Given the description of an element on the screen output the (x, y) to click on. 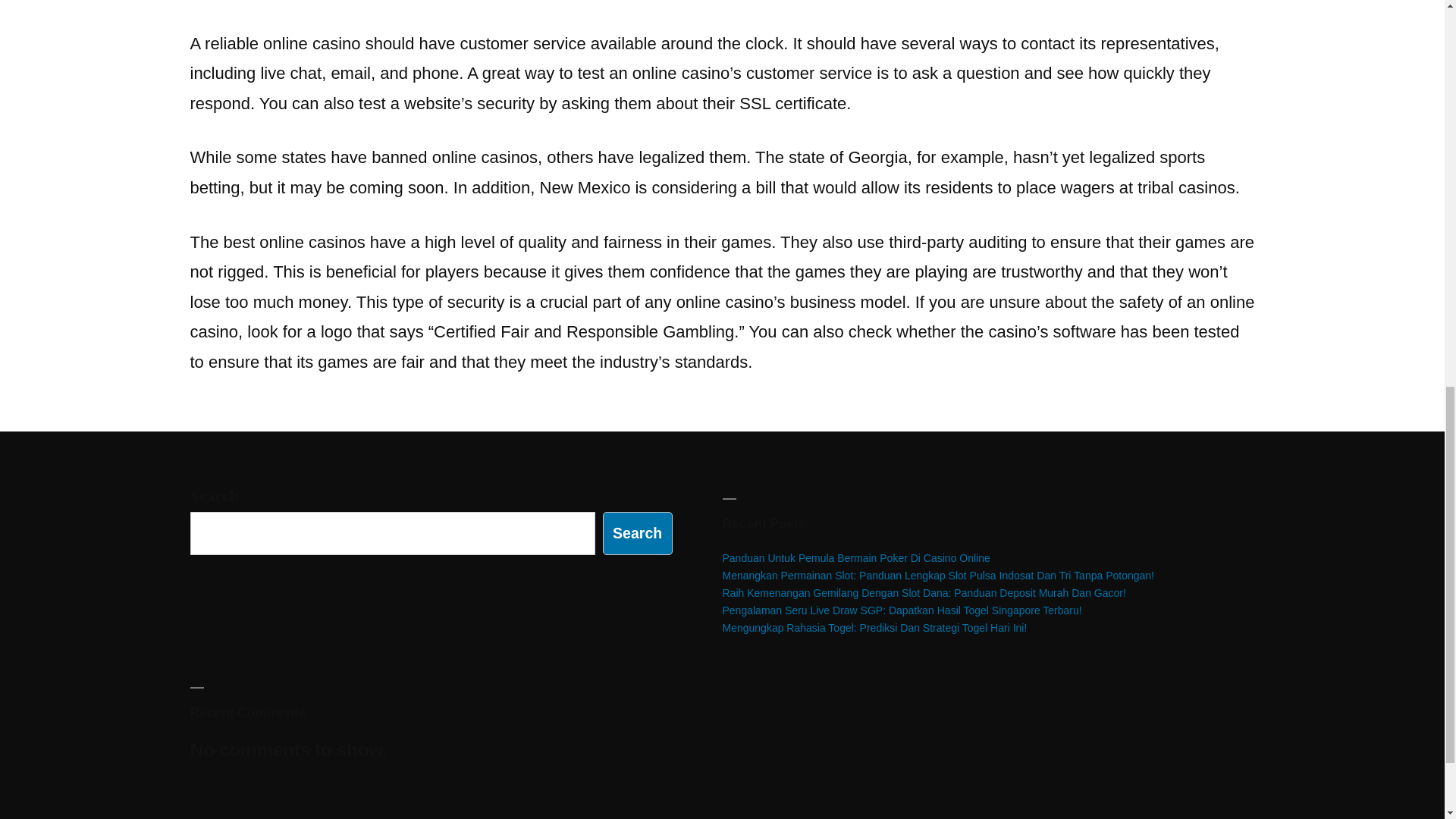
Search (637, 533)
Panduan Untuk Pemula Bermain Poker Di Casino Online (856, 558)
